Given the description of an element on the screen output the (x, y) to click on. 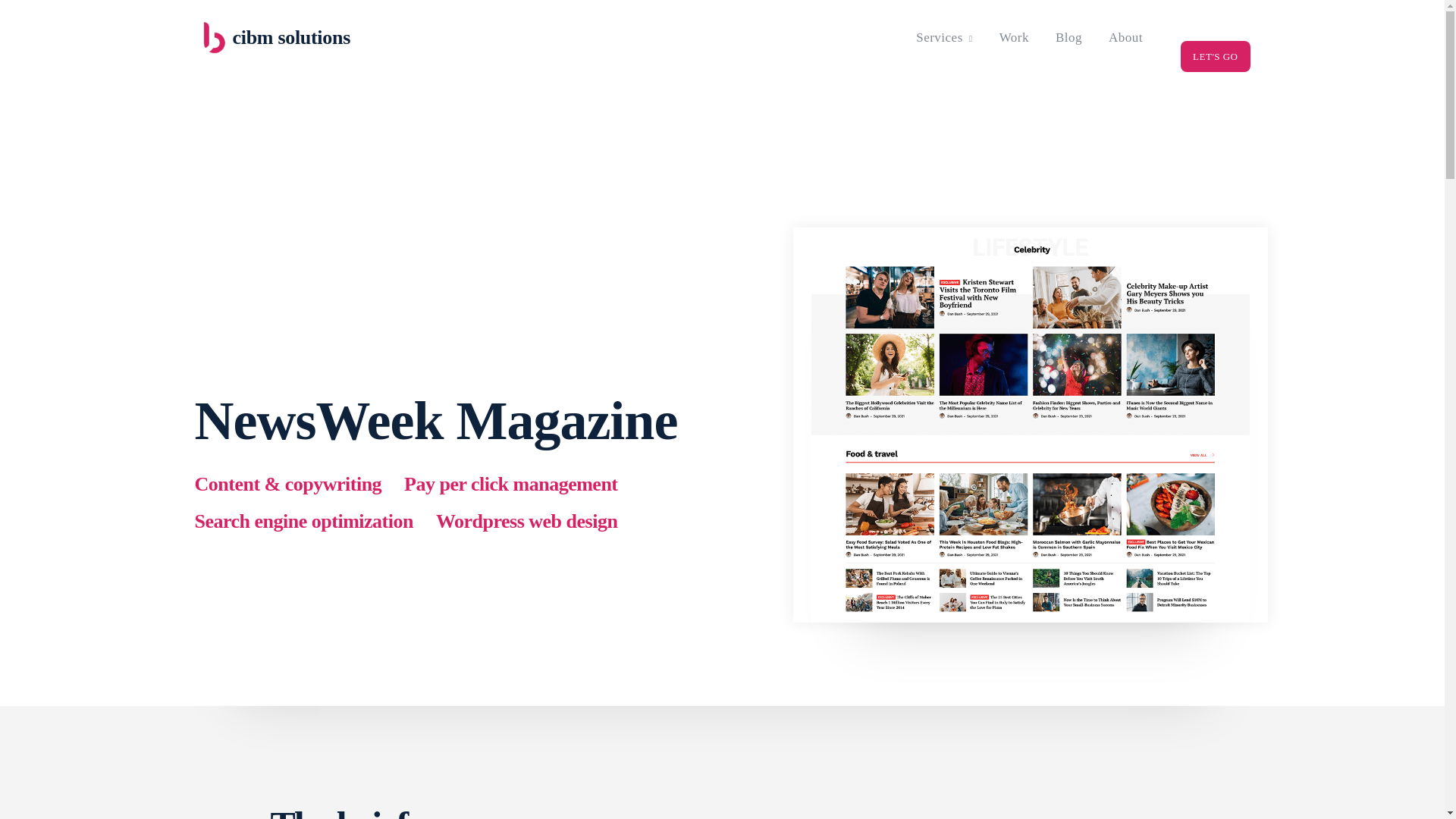
Services (943, 38)
cibm solutions (311, 37)
